Given the description of an element on the screen output the (x, y) to click on. 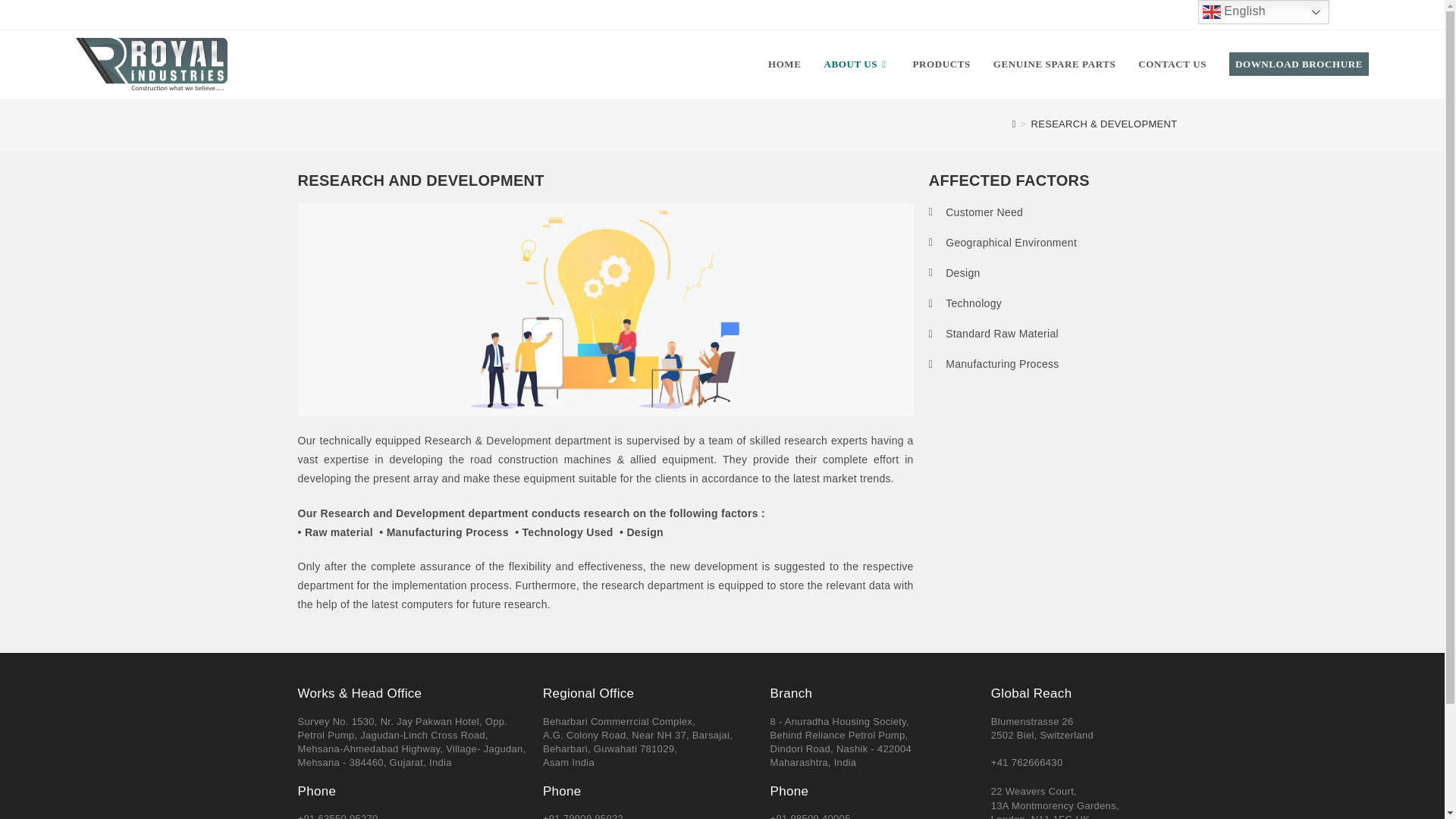
HOME (784, 64)
ABOUT US (856, 64)
GENUINE SPARE PARTS (1053, 64)
DOWNLOAD BROCHURE (1298, 64)
PRODUCTS (941, 64)
CONTACT US (1171, 64)
